Given the description of an element on the screen output the (x, y) to click on. 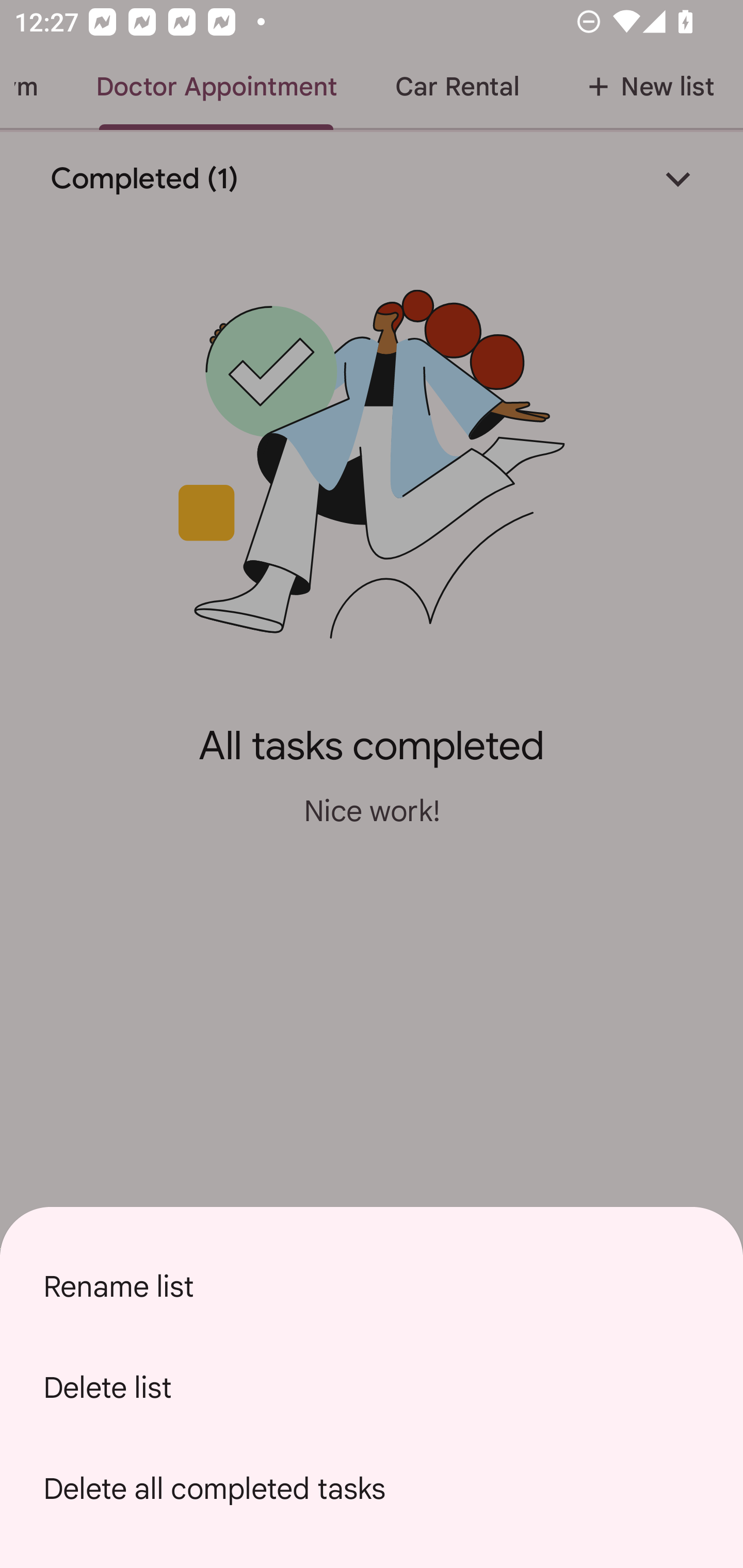
Rename list (371, 1286)
Delete list (371, 1387)
Delete all completed tasks (371, 1488)
